Given the description of an element on the screen output the (x, y) to click on. 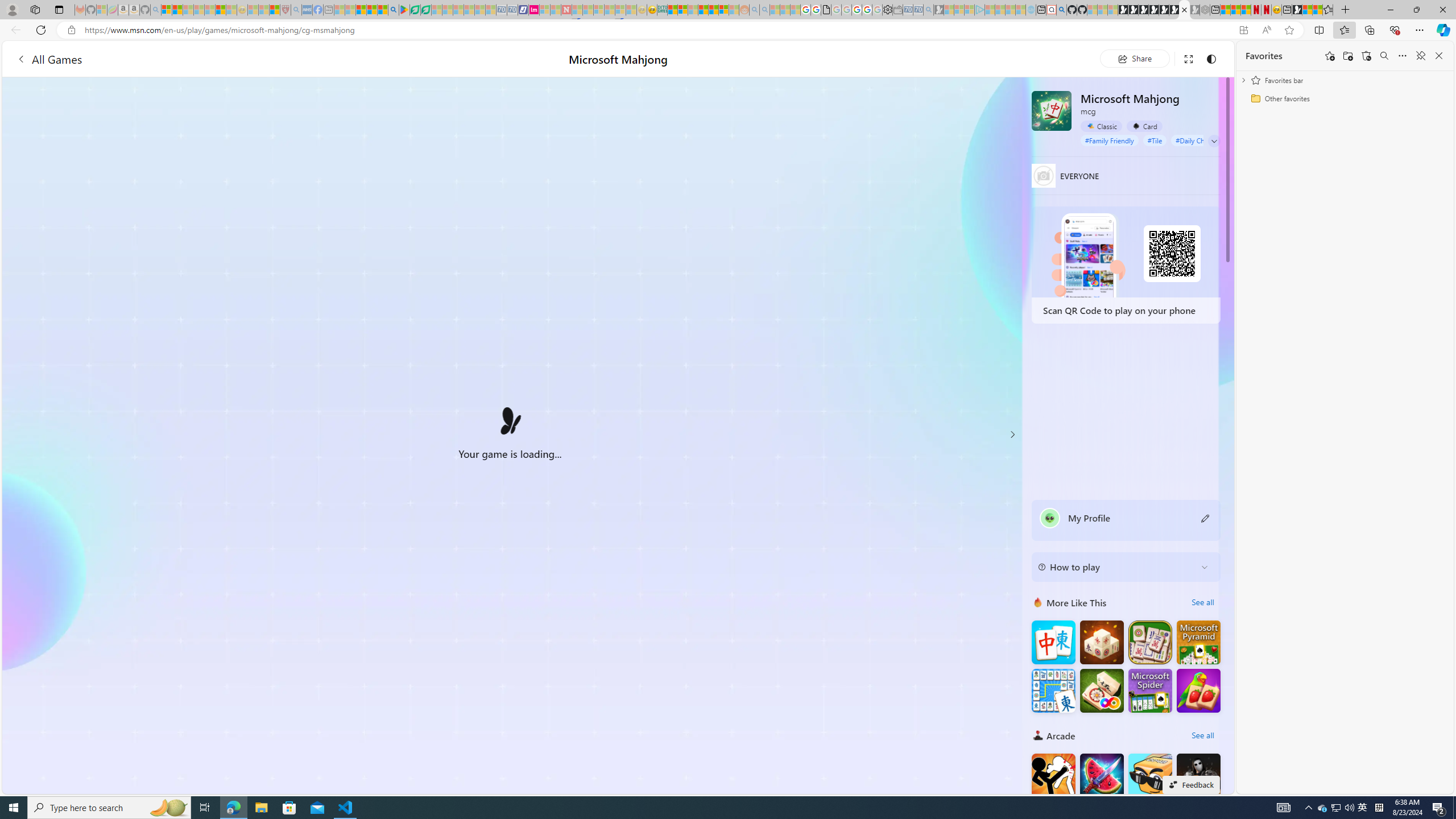
Cubes2048 (1149, 775)
Classic (1101, 125)
Mahjong FRVR (1101, 690)
Card (1143, 125)
Pets - MSN (371, 9)
